Given the description of an element on the screen output the (x, y) to click on. 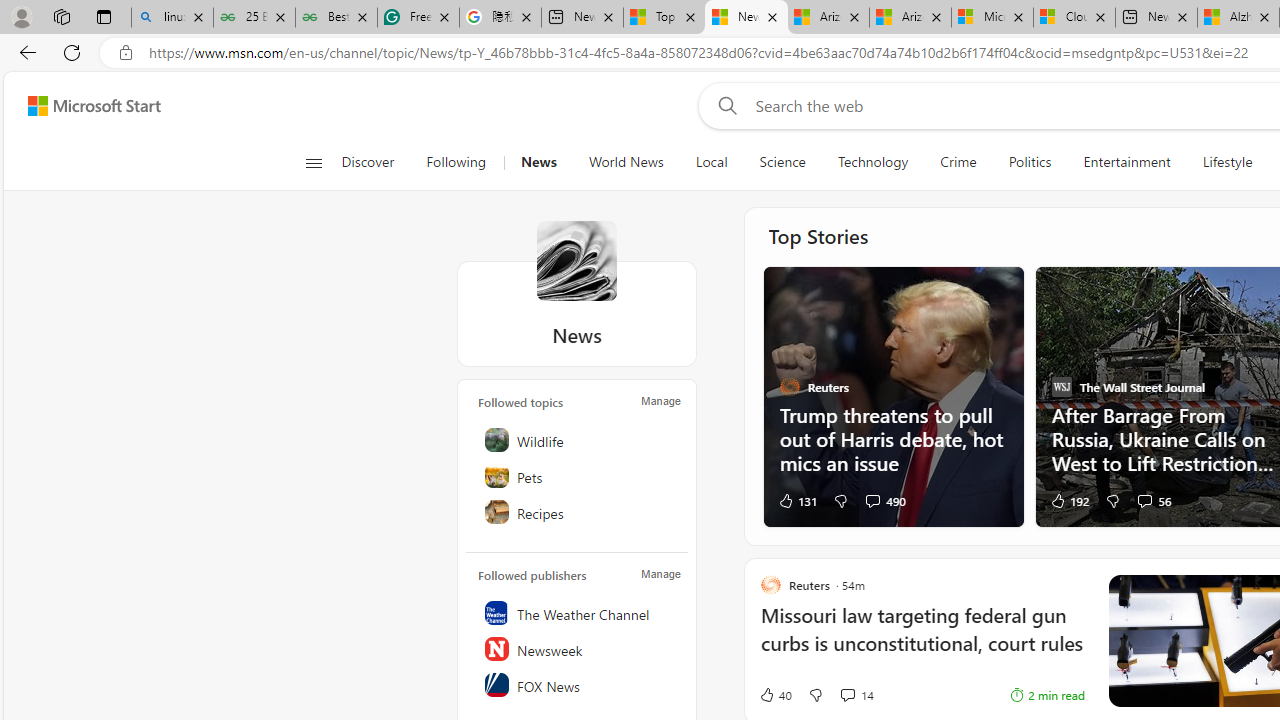
Recipes (578, 511)
40 Like (775, 695)
Pets (578, 475)
Microsoft Services Agreement (992, 17)
Local (710, 162)
192 Like (1068, 500)
Skip to content (86, 105)
Science (781, 162)
Lifestyle (1227, 162)
Dislike (815, 695)
131 Like (797, 500)
